Given the description of an element on the screen output the (x, y) to click on. 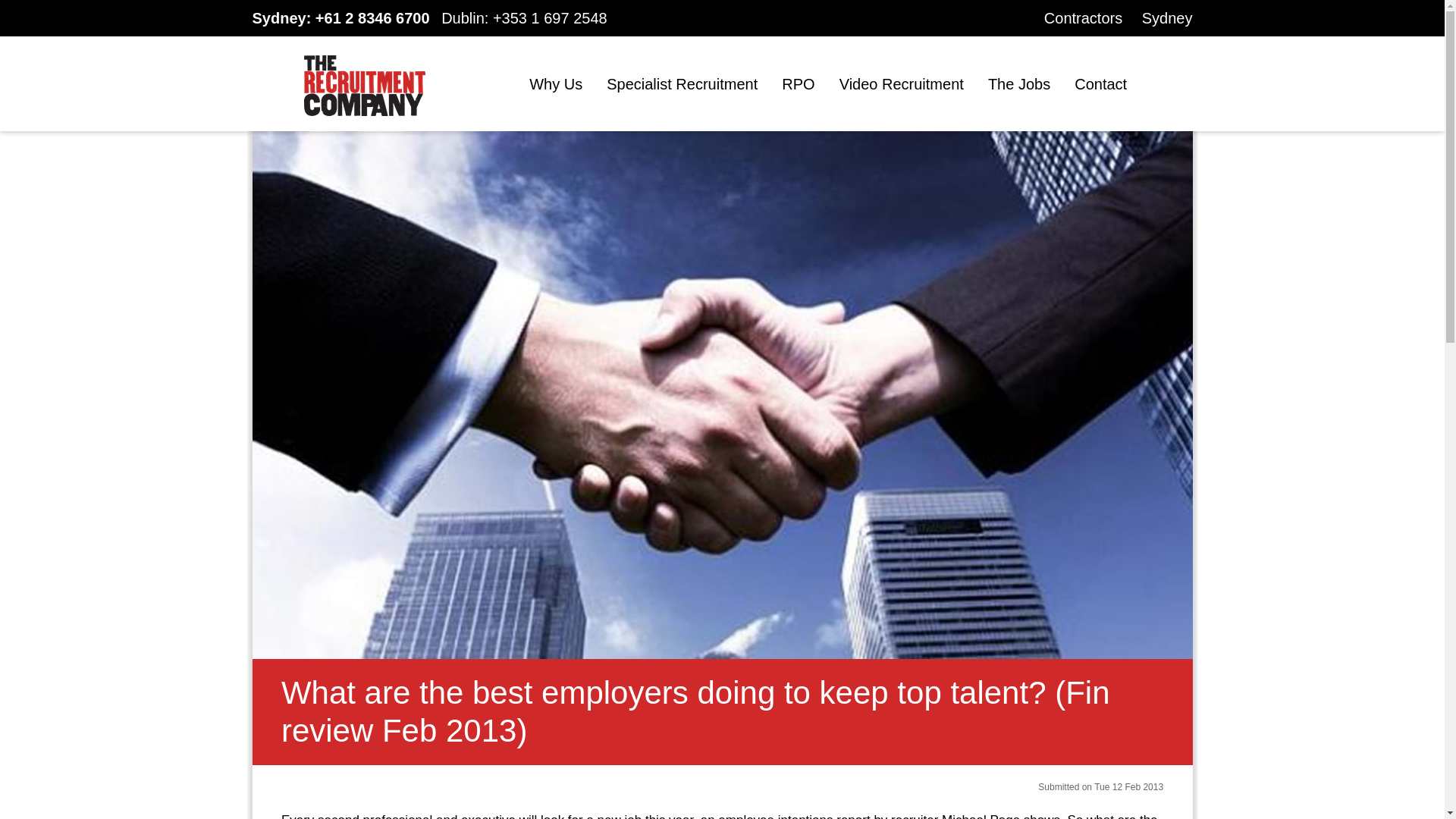
Video Recruitment (901, 84)
Why Us (556, 84)
Specialist Recruitment (681, 84)
Contact (1100, 84)
RPO (797, 84)
Contractors (1082, 17)
The Jobs (1018, 84)
Sydney (1166, 17)
